Given the description of an element on the screen output the (x, y) to click on. 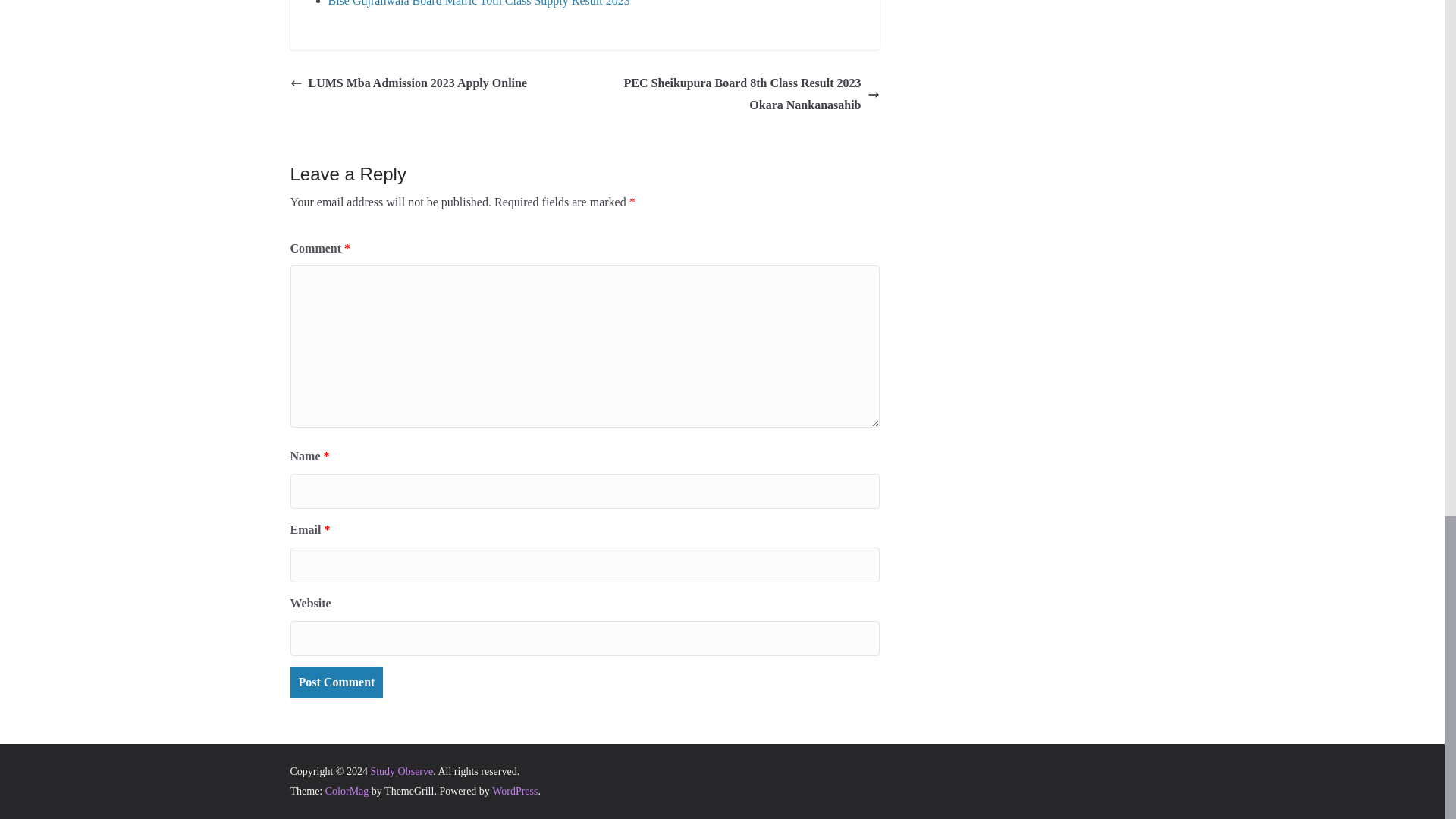
Study Observe (400, 771)
WordPress (514, 790)
Post Comment (335, 682)
Bise Gujranwala Board Matric 10th Class Supply Result 2023 (477, 3)
WordPress (514, 790)
Study Observe (400, 771)
ColorMag (346, 790)
Post Comment (335, 682)
ColorMag (346, 790)
